Given the description of an element on the screen output the (x, y) to click on. 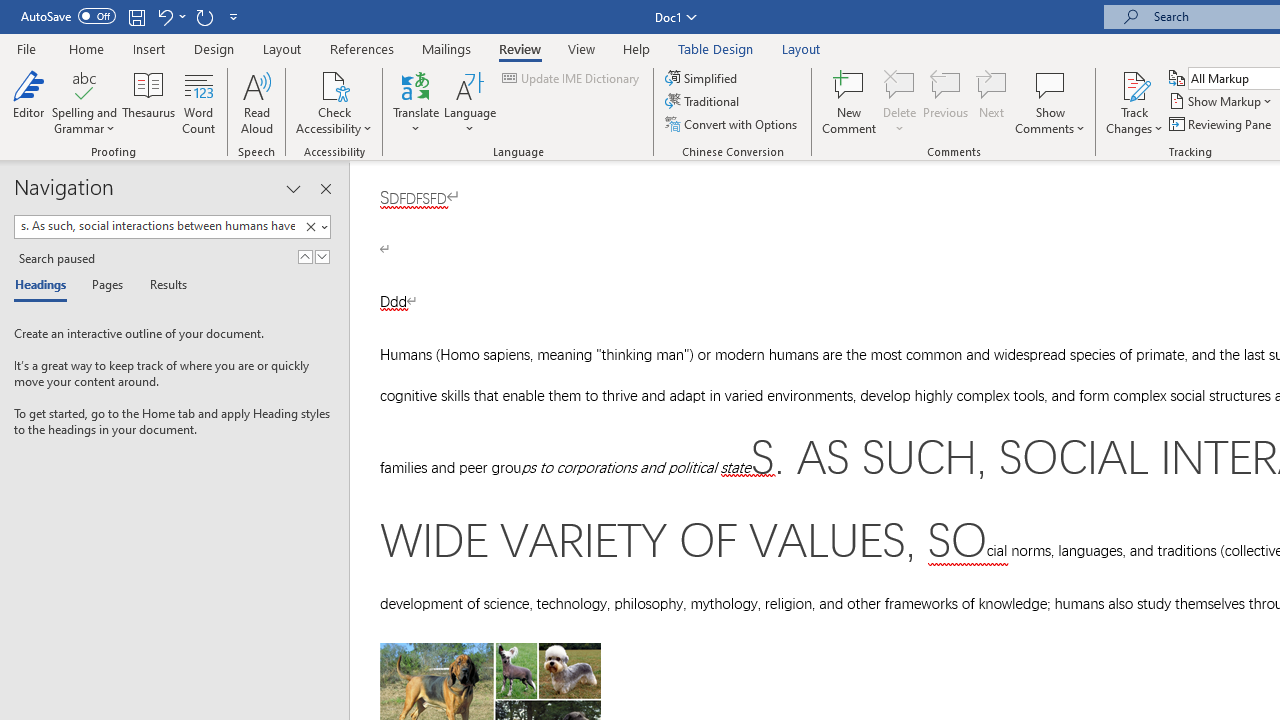
Read Aloud (256, 102)
Previous (946, 102)
Show Comments (1050, 102)
Undo Style (170, 15)
Previous Result (304, 256)
Convert with Options... (732, 124)
Spelling and Grammar (84, 102)
Undo Style (164, 15)
